Given the description of an element on the screen output the (x, y) to click on. 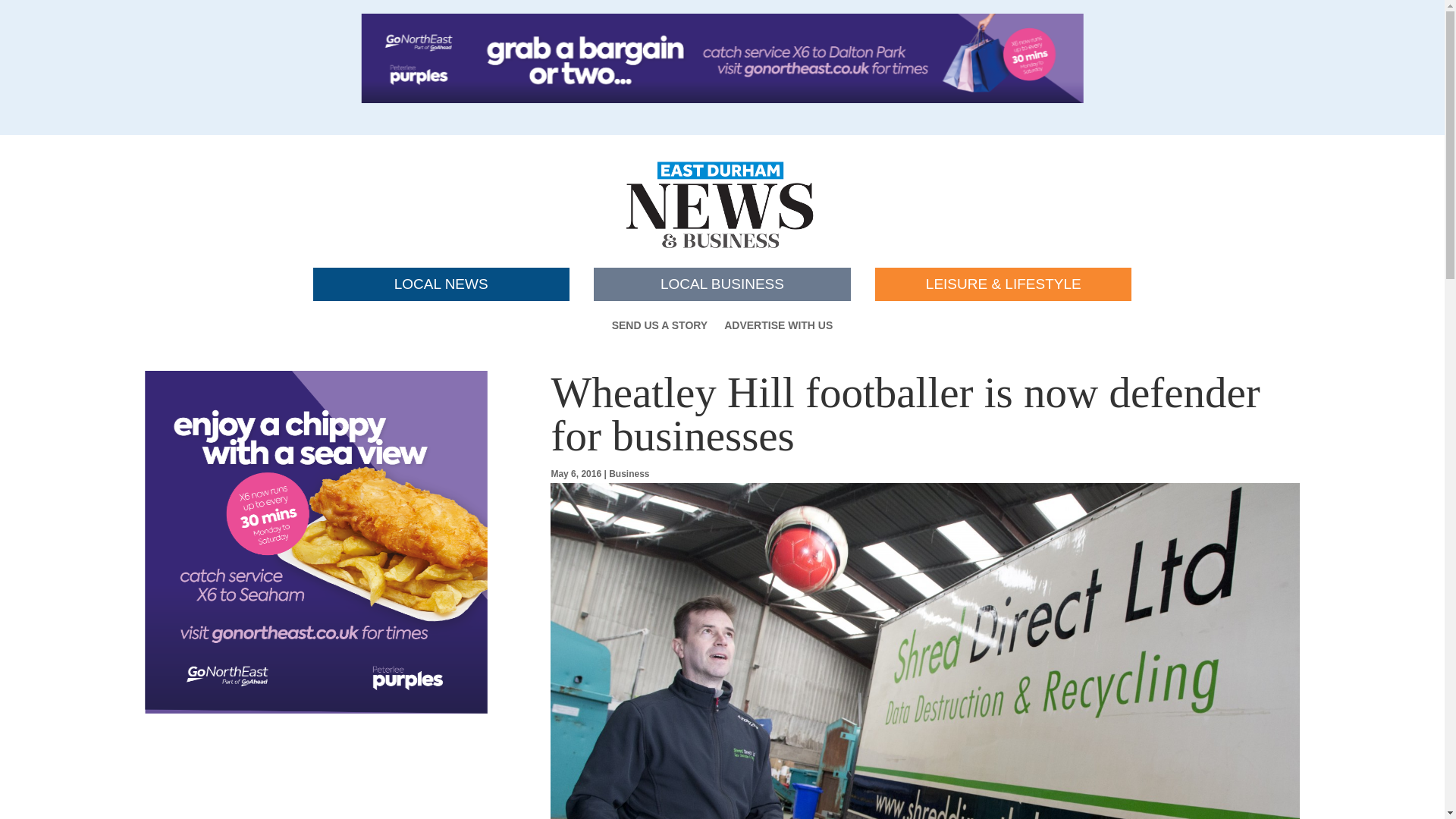
Business (628, 473)
ADVERTISE WITH US (777, 328)
SEND US A STORY (659, 328)
